Given the description of an element on the screen output the (x, y) to click on. 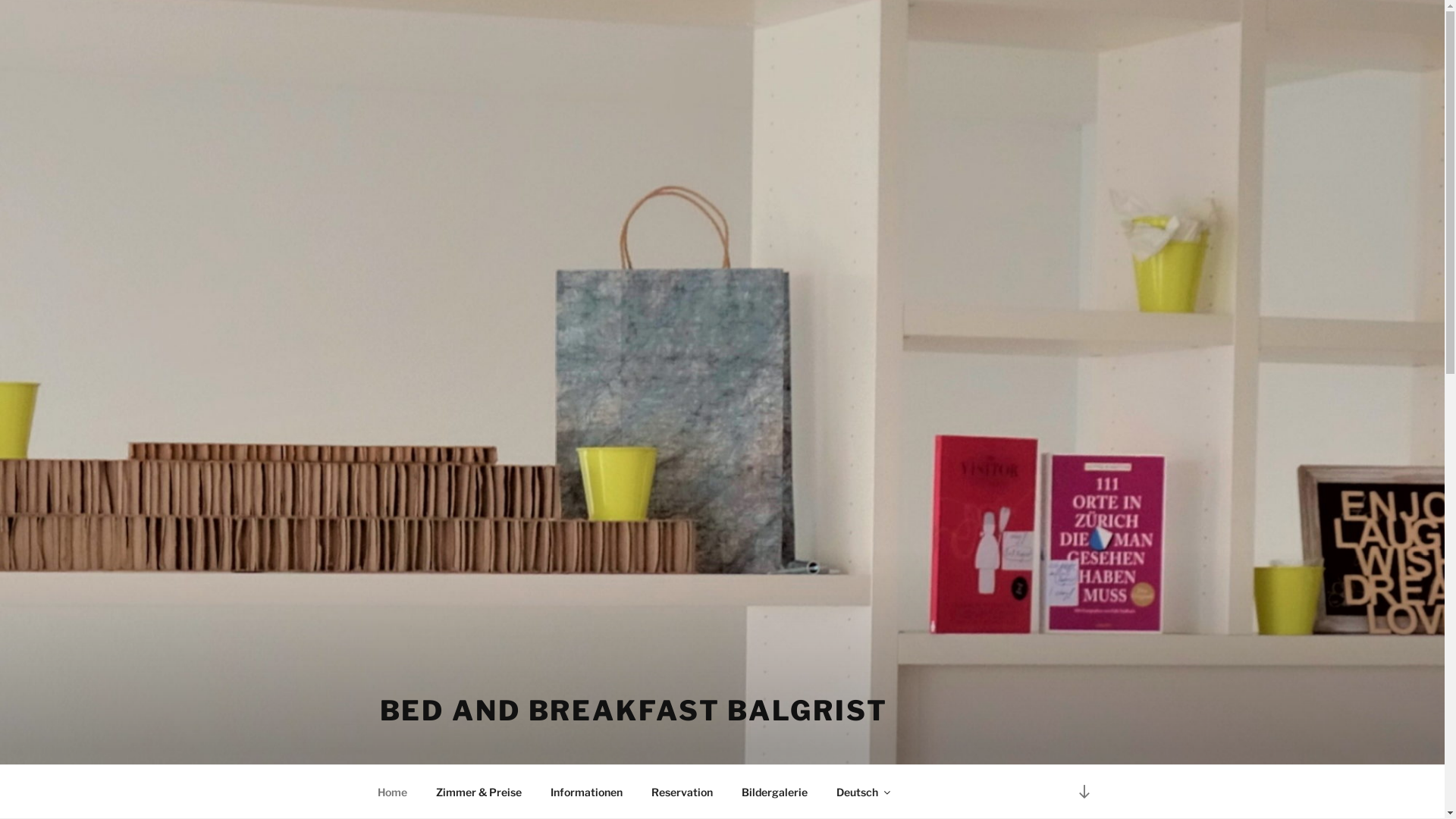
Zum Inhalt nach unten scrollen Element type: text (1083, 790)
Informationen Element type: text (585, 791)
Deutsch Element type: text (862, 791)
Home Element type: text (392, 791)
Bildergalerie Element type: text (774, 791)
Reservation Element type: text (682, 791)
BED AND BREAKFAST BALGRIST Element type: text (633, 710)
Zimmer & Preise Element type: text (479, 791)
